Given the description of an element on the screen output the (x, y) to click on. 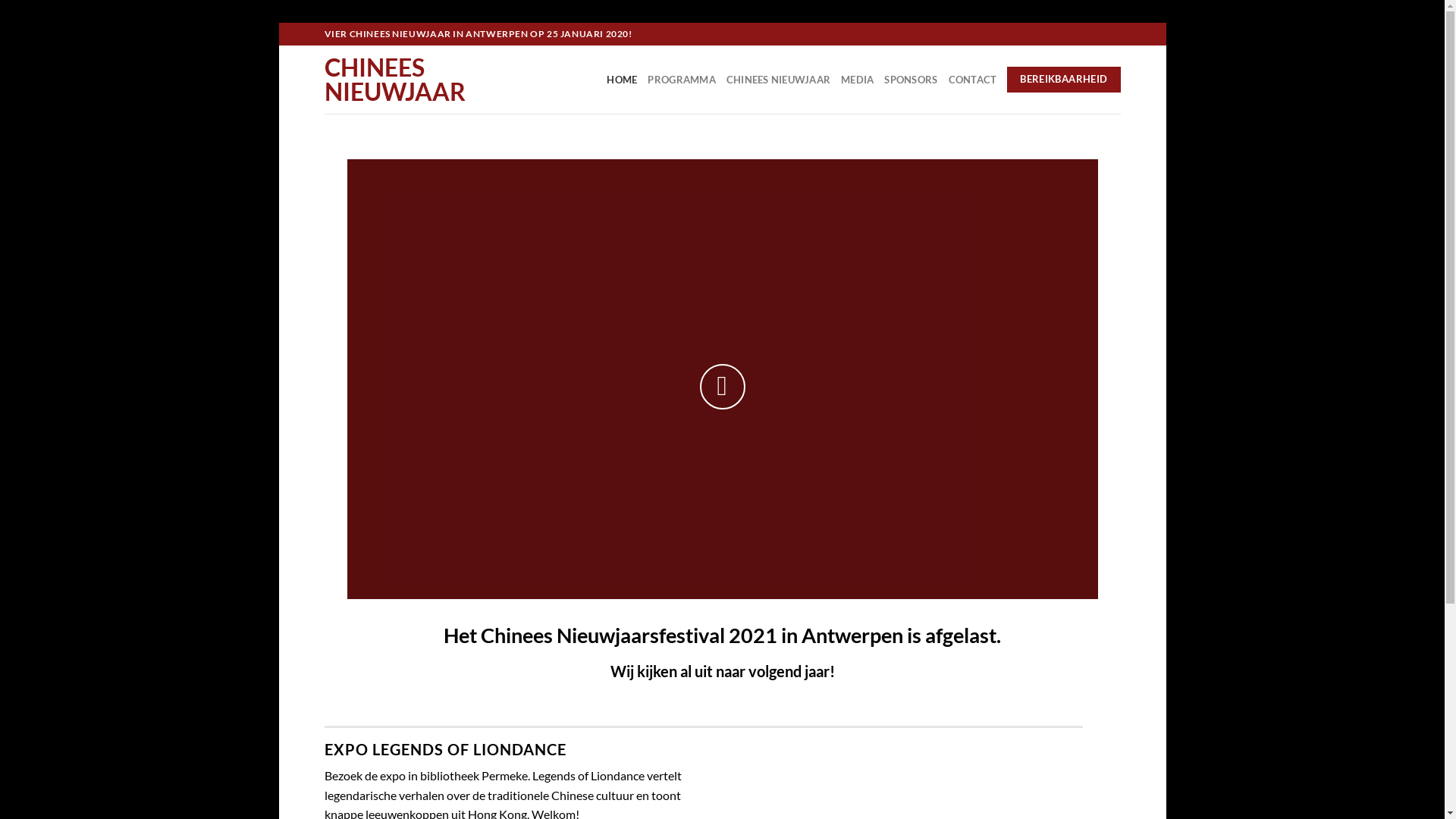
CHINEES NIEUWJAAR Element type: text (400, 79)
CONTACT Element type: text (971, 79)
SPONSORS Element type: text (910, 79)
BEREIKBAARHEID Element type: text (1063, 79)
PROGRAMMA Element type: text (681, 79)
CHINEES NIEUWJAAR Element type: text (778, 79)
MEDIA Element type: text (856, 79)
HOME Element type: text (621, 79)
Skip to content Element type: text (279, 22)
